Given the description of an element on the screen output the (x, y) to click on. 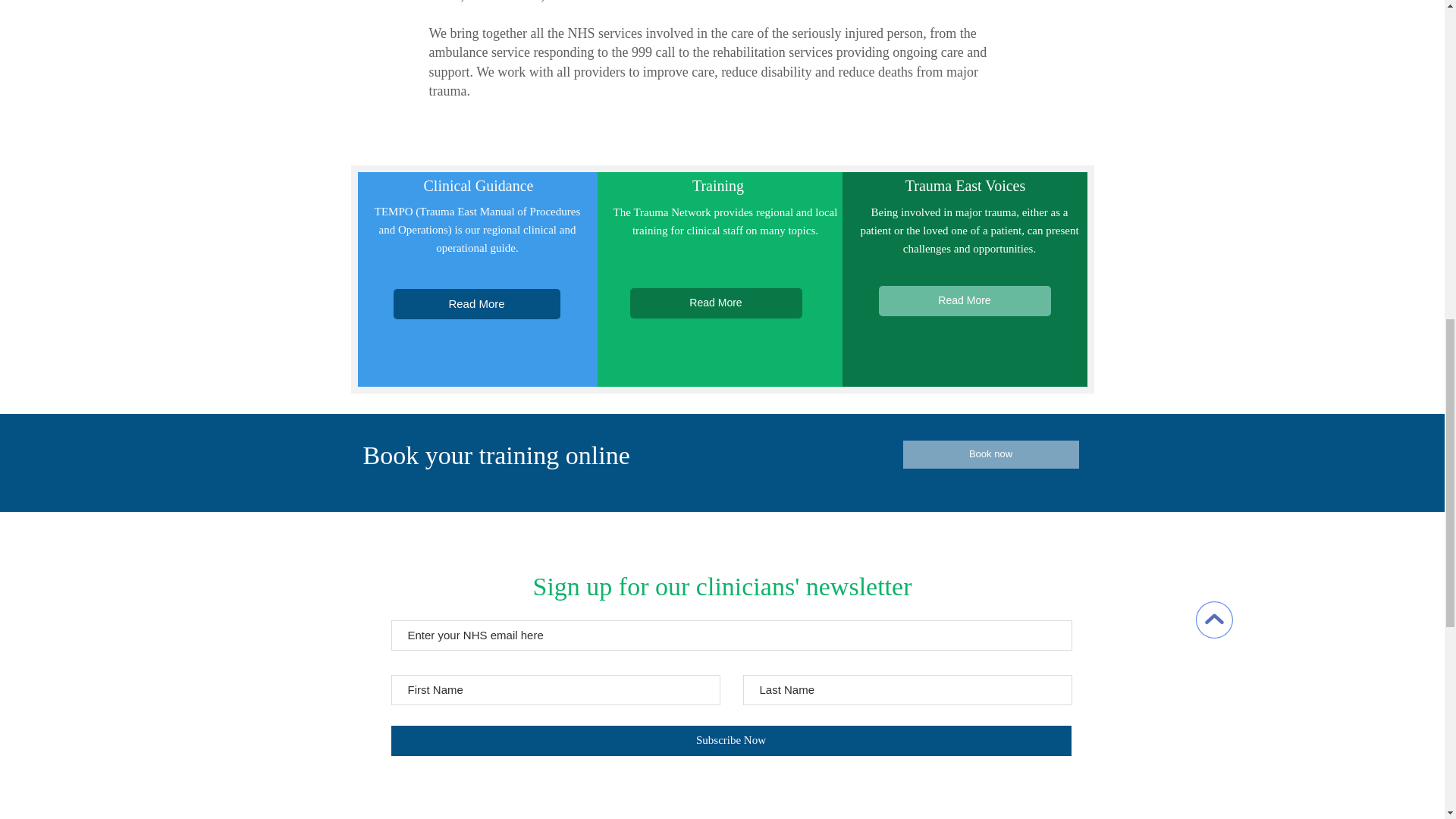
Read More (715, 303)
Read More (476, 304)
Read More (963, 300)
Book now (990, 454)
Subscribe Now (731, 740)
